Given the description of an element on the screen output the (x, y) to click on. 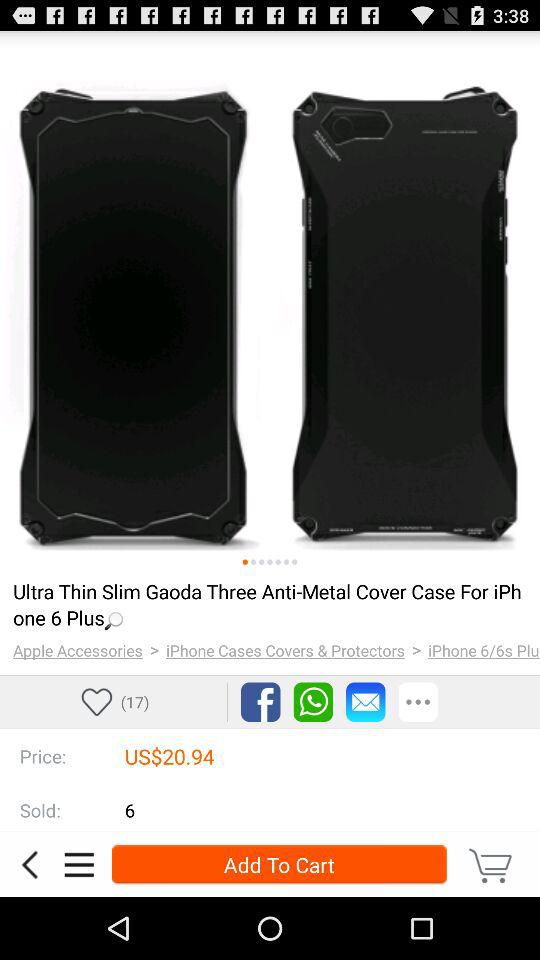
view next product photo (253, 561)
